Given the description of an element on the screen output the (x, y) to click on. 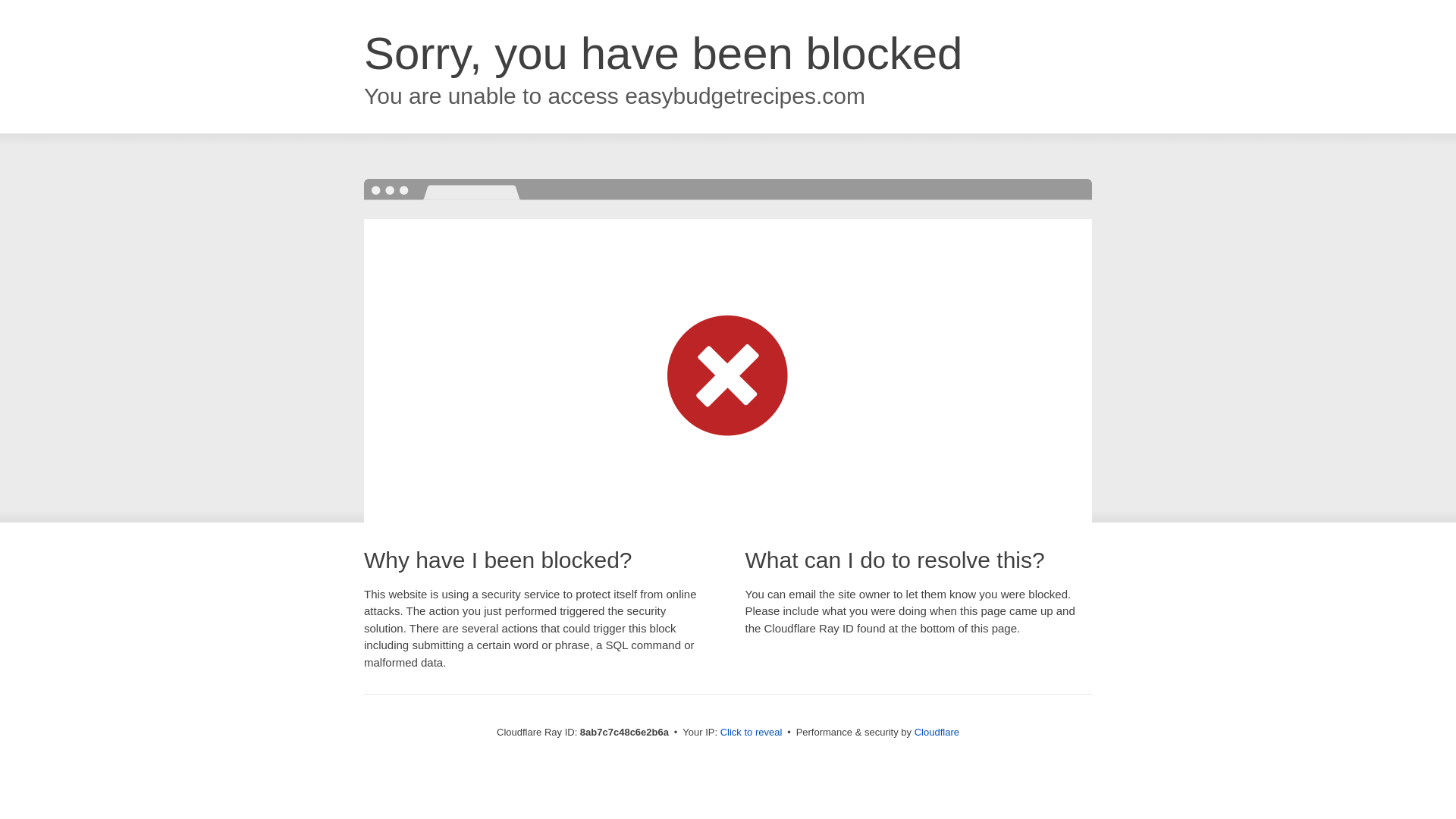
Click to reveal (751, 732)
Cloudflare (936, 731)
